Given the description of an element on the screen output the (x, y) to click on. 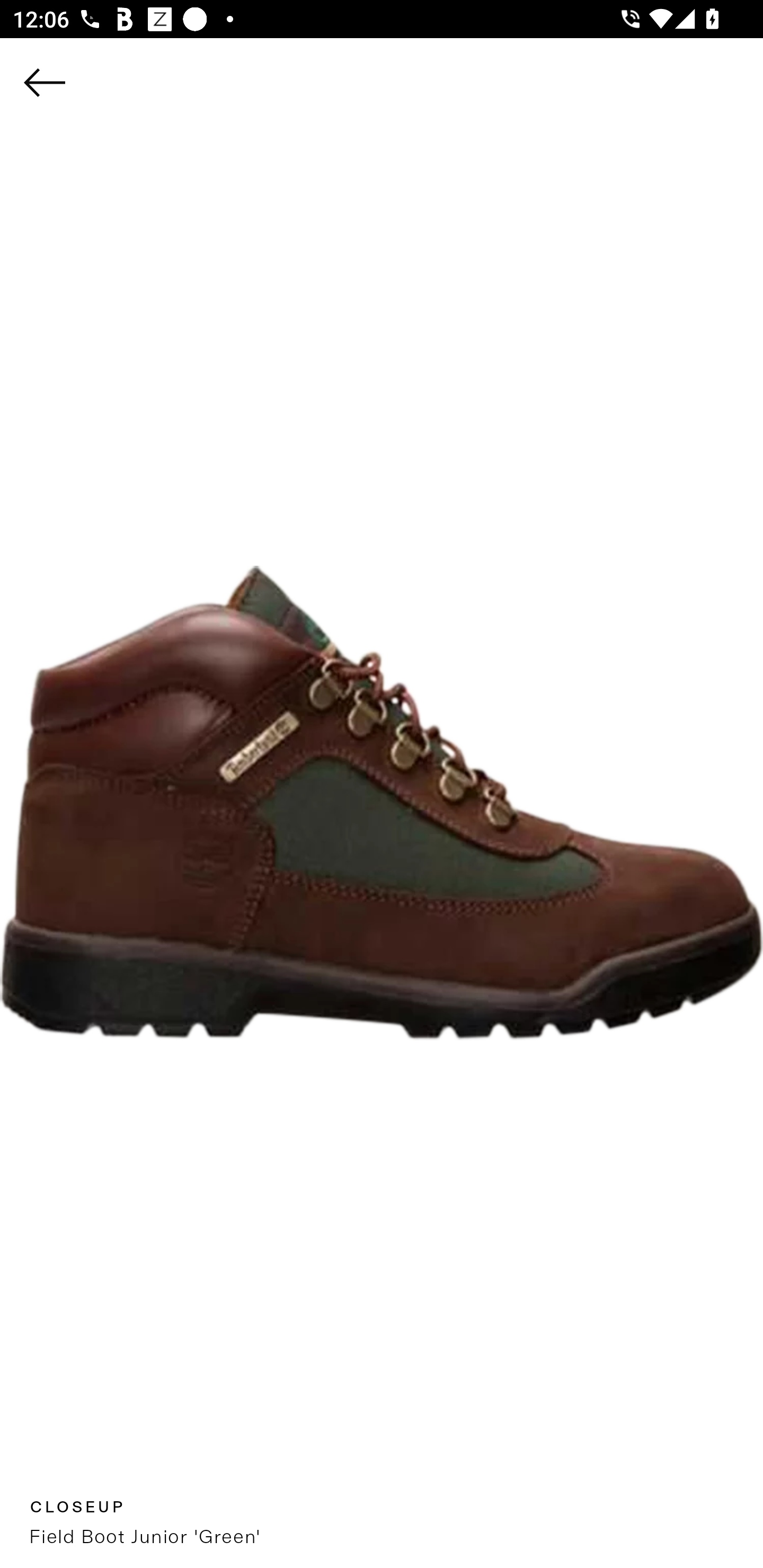
Navigate up (44, 82)
